Given the description of an element on the screen output the (x, y) to click on. 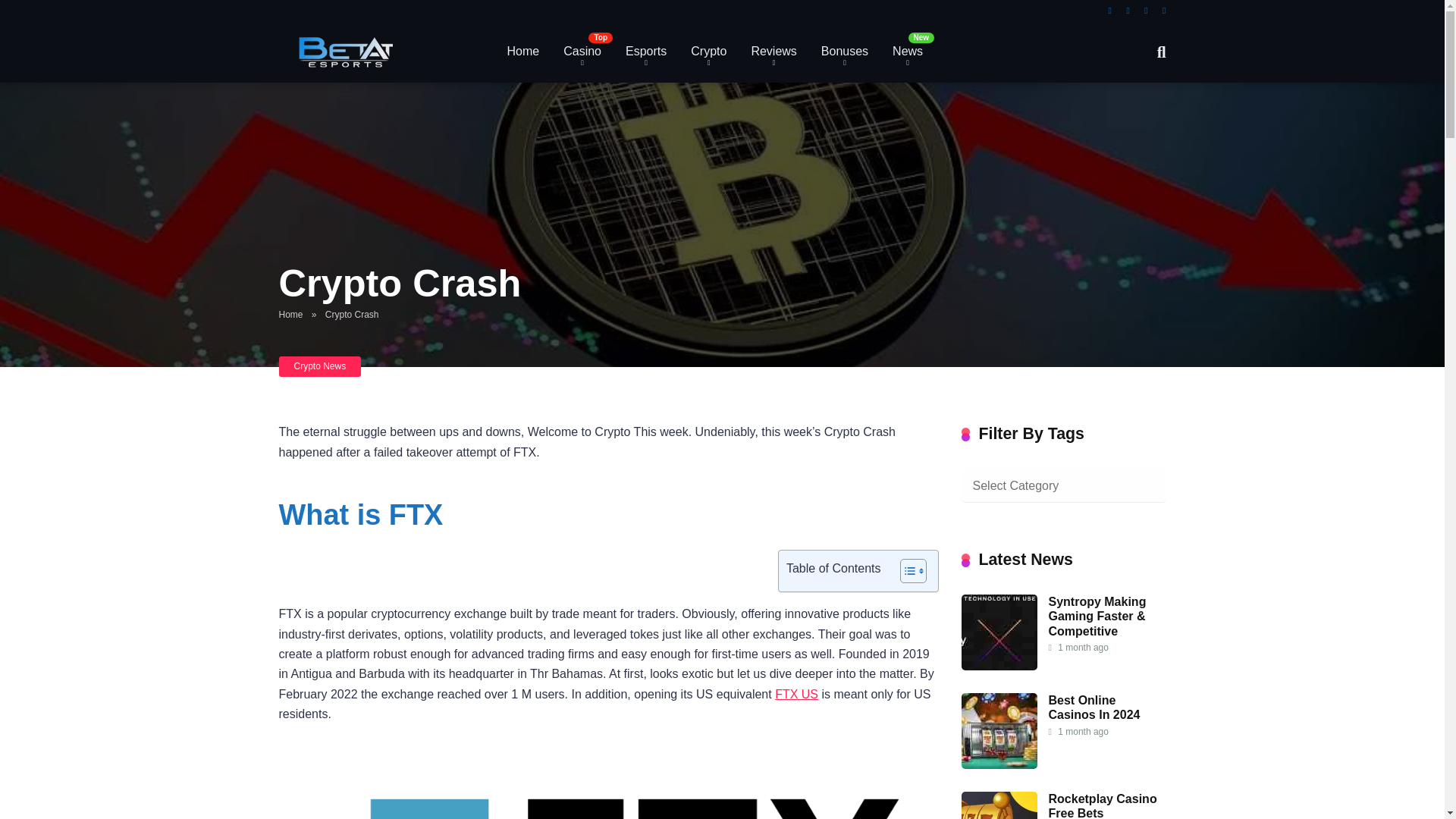
Esports (645, 52)
Bonuses (844, 52)
News (907, 52)
Reviews (773, 52)
Home (523, 52)
Betatesports (344, 46)
Casino (581, 52)
Crypto (708, 52)
